Given the description of an element on the screen output the (x, y) to click on. 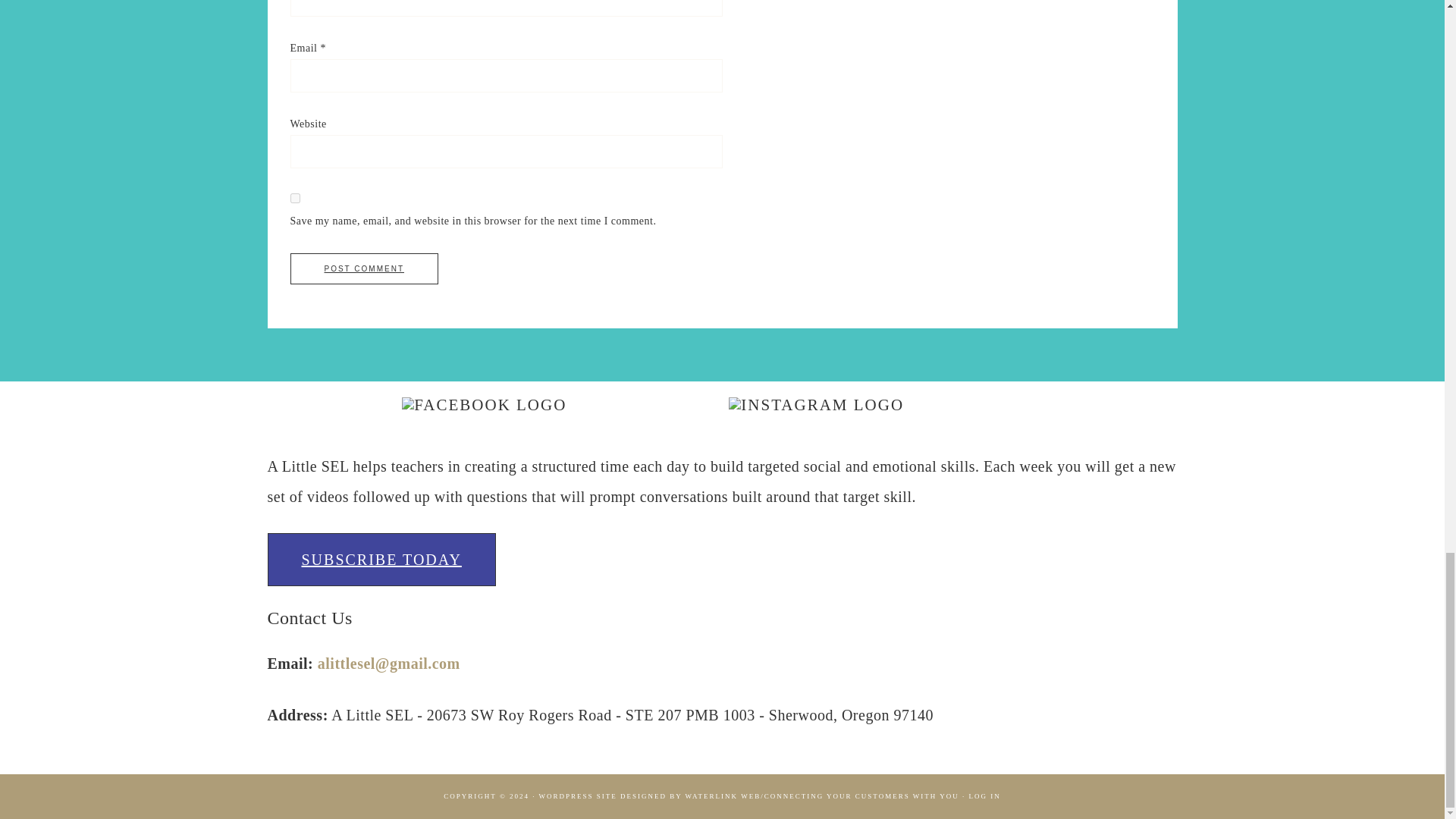
Post Comment (363, 268)
yes (294, 198)
Post Comment (363, 268)
SUBSCRIBE TODAY (380, 559)
